Given the description of an element on the screen output the (x, y) to click on. 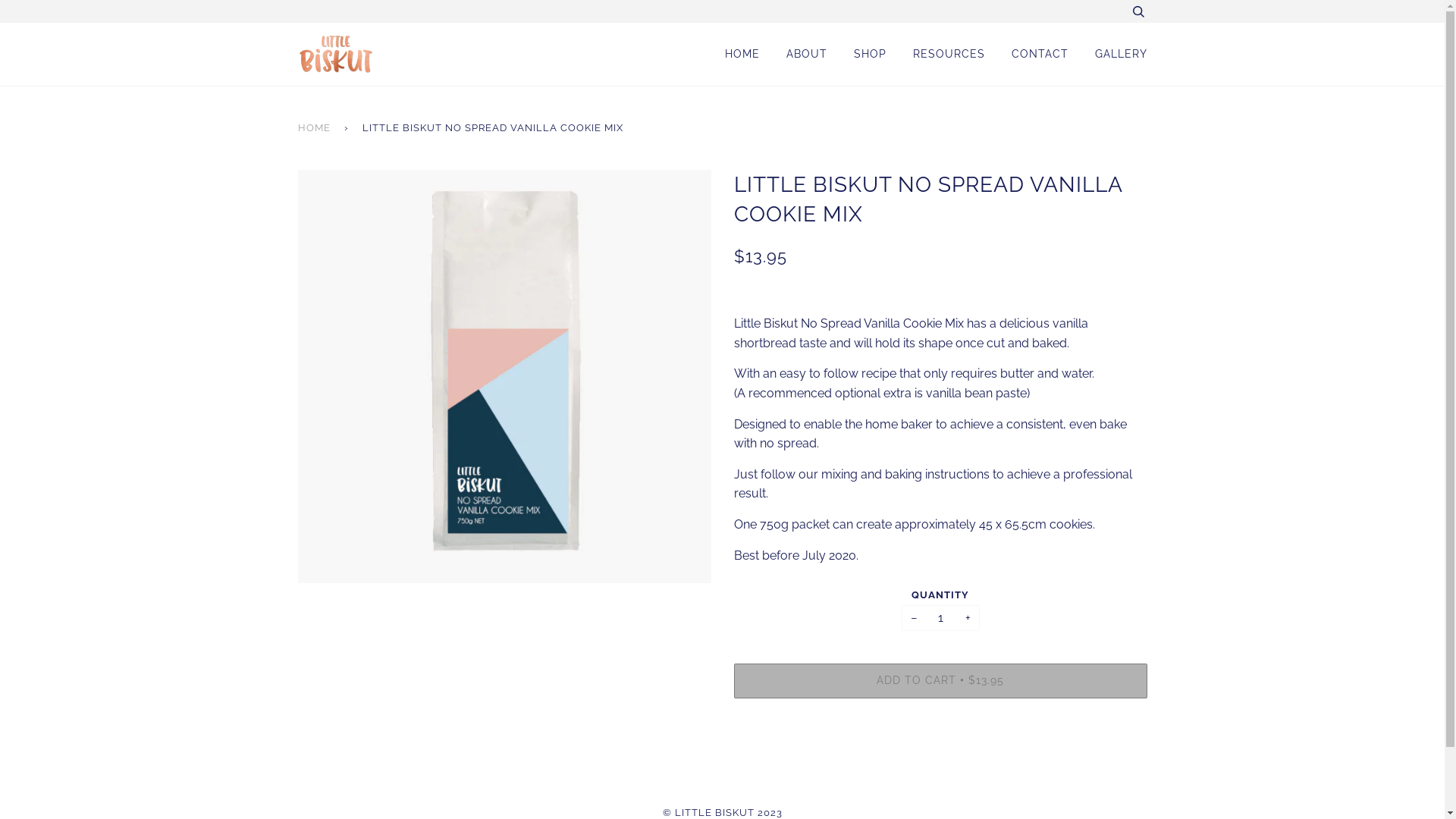
CONTACT Element type: text (1039, 53)
SHOP Element type: text (869, 53)
ABOUT Element type: text (805, 53)
HOME Element type: text (316, 128)
HOME Element type: text (741, 53)
RESOURCES Element type: text (949, 53)
+ Element type: text (967, 618)
GALLERY Element type: text (1121, 53)
